Given the description of an element on the screen output the (x, y) to click on. 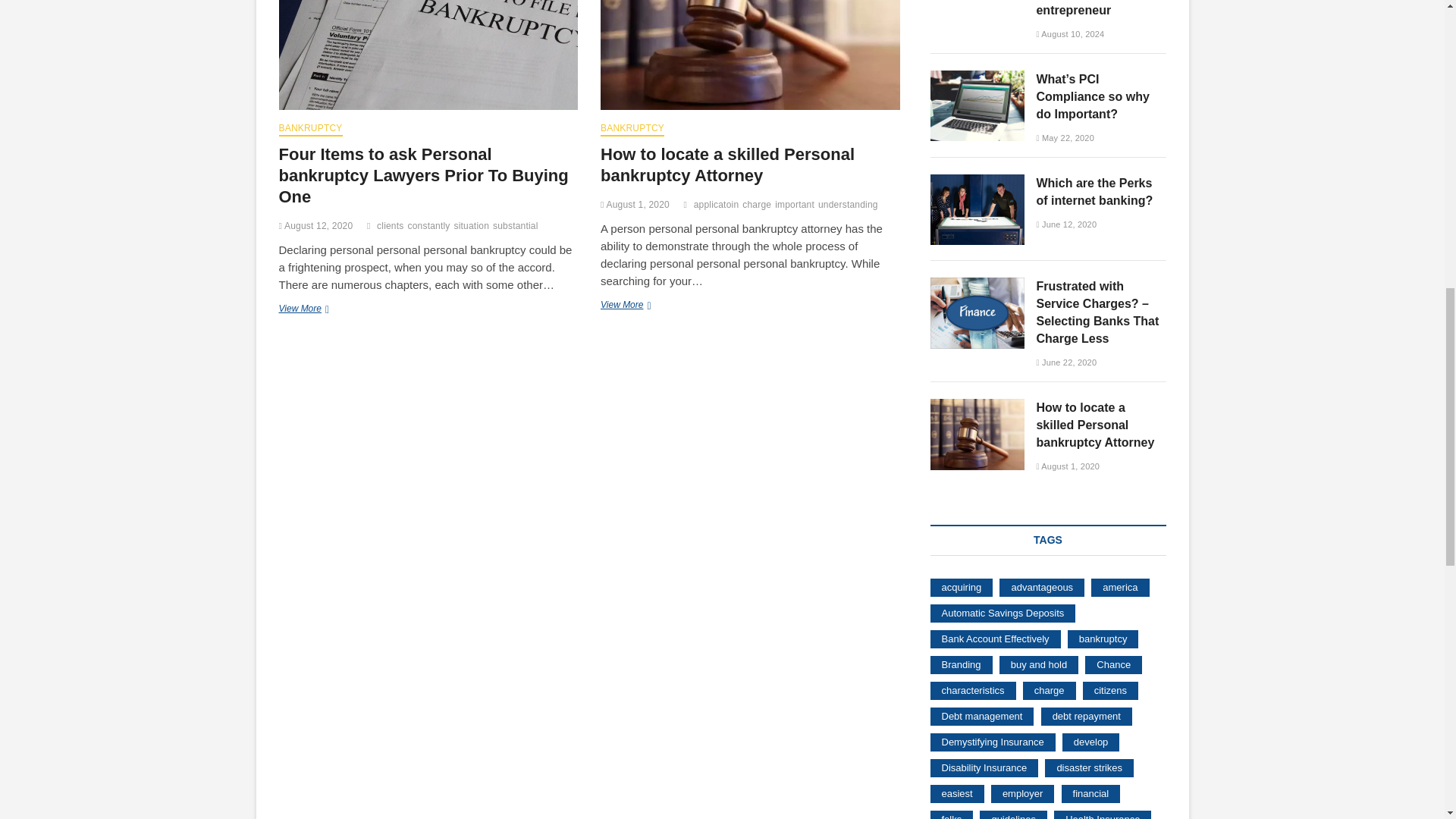
How to locate a skilled Personal bankruptcy Attorney (726, 164)
August 12, 2020 (316, 225)
BANKRUPTCY (310, 129)
How to locate a skilled Personal bankruptcy Attorney (749, 54)
